Given the description of an element on the screen output the (x, y) to click on. 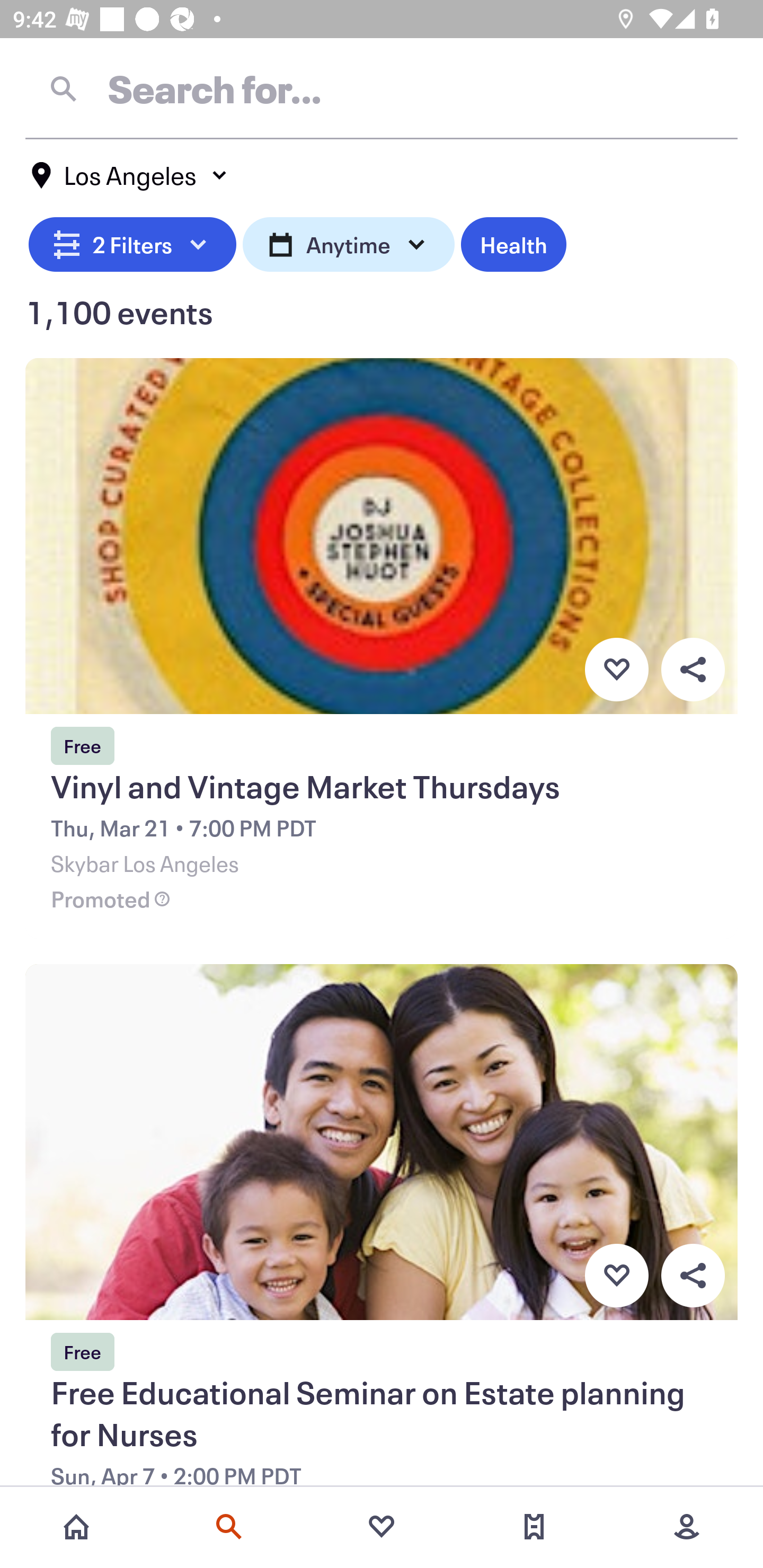
Search for… (381, 88)
Los Angeles (130, 175)
2 Filters (132, 241)
Anytime (348, 241)
Health (513, 241)
Favorite button (616, 669)
Overflow menu button (692, 669)
Promoted event help (161, 898)
Favorite button (616, 1275)
Overflow menu button (692, 1275)
Home (76, 1526)
Search events (228, 1526)
Favorites (381, 1526)
Tickets (533, 1526)
More (686, 1526)
